Given the description of an element on the screen output the (x, y) to click on. 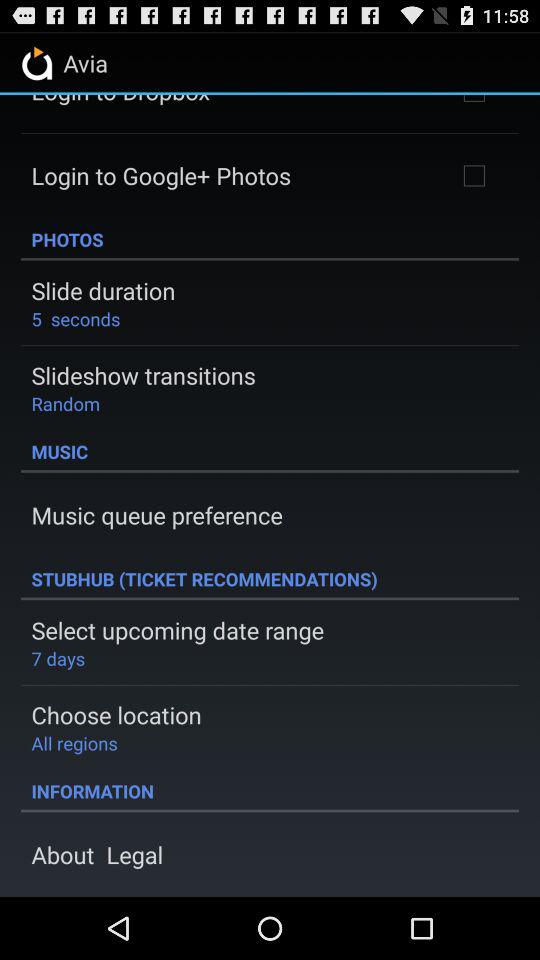
select the icon below select upcoming date icon (58, 658)
